Given the description of an element on the screen output the (x, y) to click on. 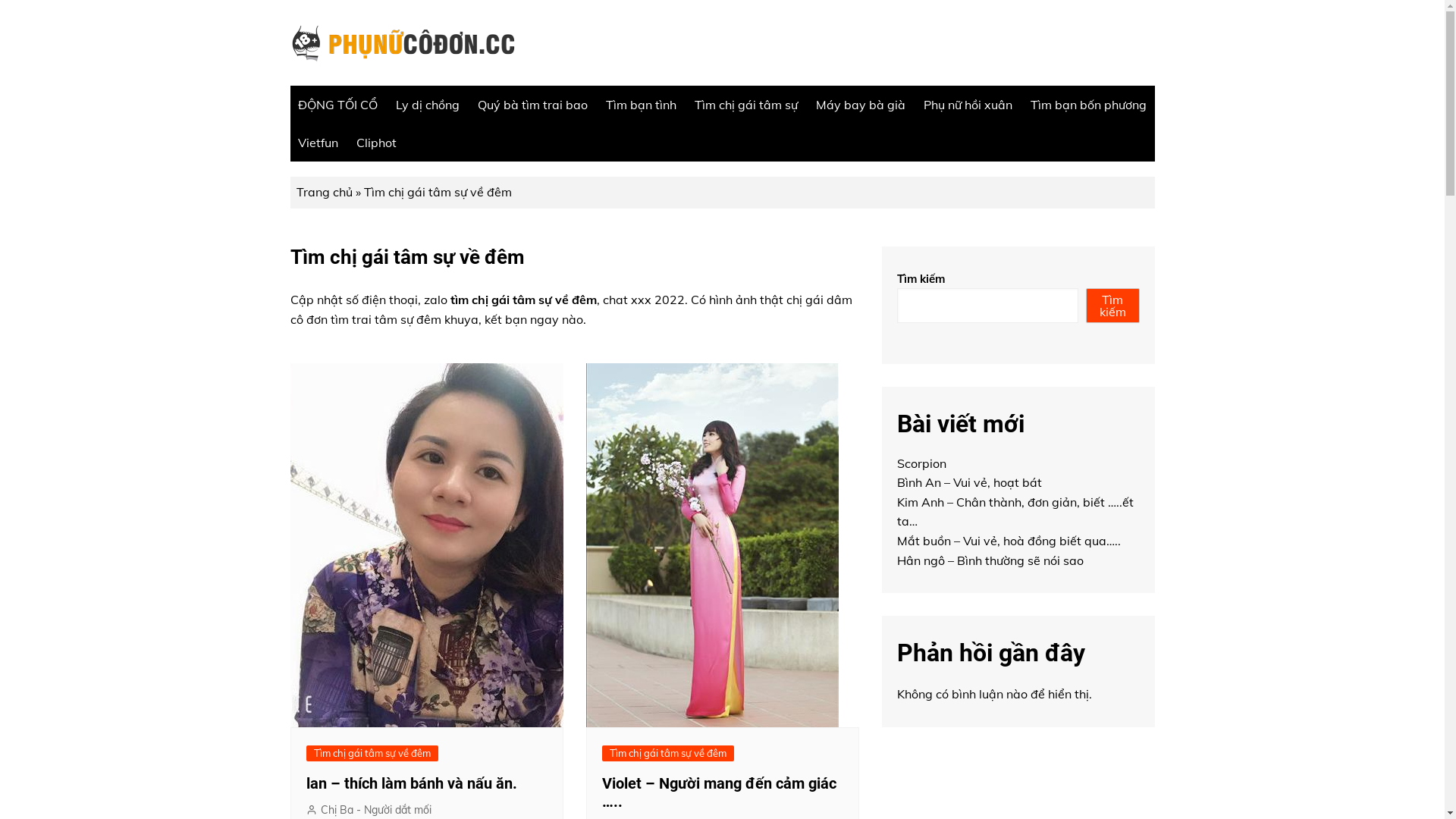
Scorpion Element type: text (920, 462)
Cliphot Element type: text (376, 142)
Vietfun Element type: text (317, 142)
